Given the description of an element on the screen output the (x, y) to click on. 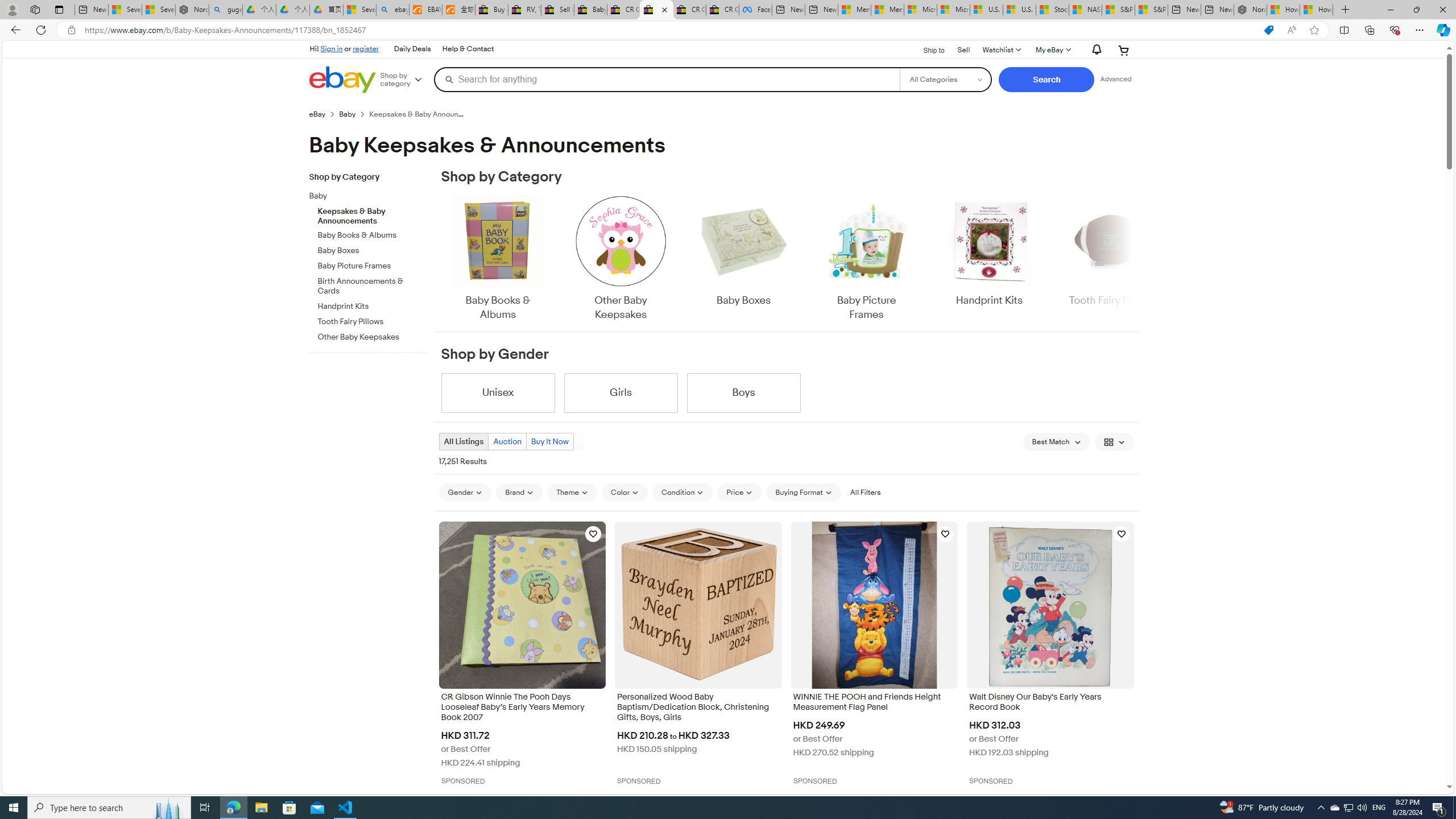
Settings and more (Alt+F) (1419, 29)
Auction (506, 441)
Baby Books & Albums (497, 258)
Read aloud this page (Ctrl+Shift+U) (1291, 29)
All Listings Current view (464, 441)
Back (13, 29)
ebay - Search (392, 9)
Unisex (497, 392)
Theme (572, 492)
Color (624, 492)
This site has coupons! Shopping in Microsoft Edge (1268, 29)
Girls (620, 392)
Minimize (1390, 9)
Gender (465, 492)
